Given the description of an element on the screen output the (x, y) to click on. 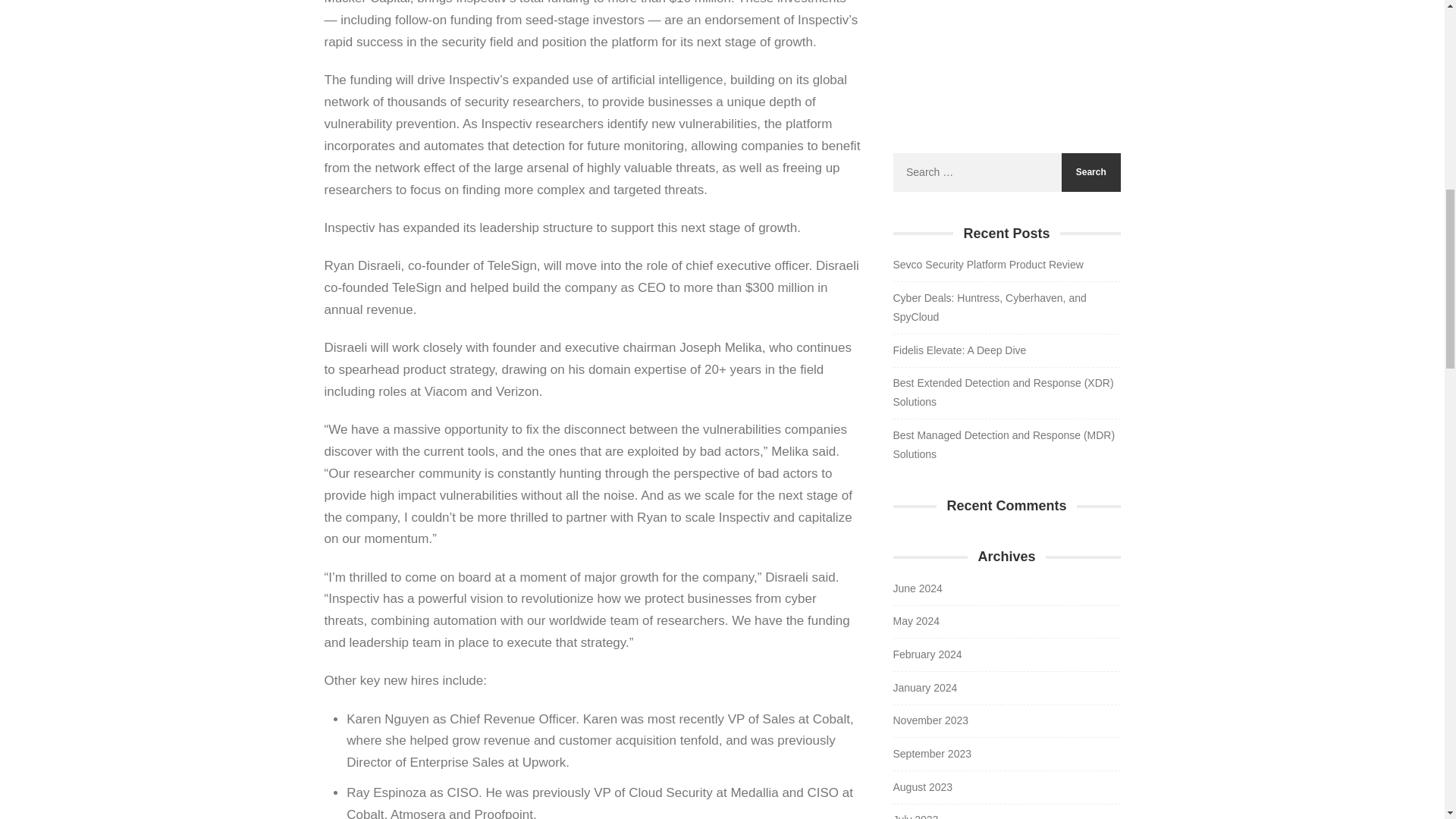
Search (1091, 172)
Search (1091, 172)
